Given the description of an element on the screen output the (x, y) to click on. 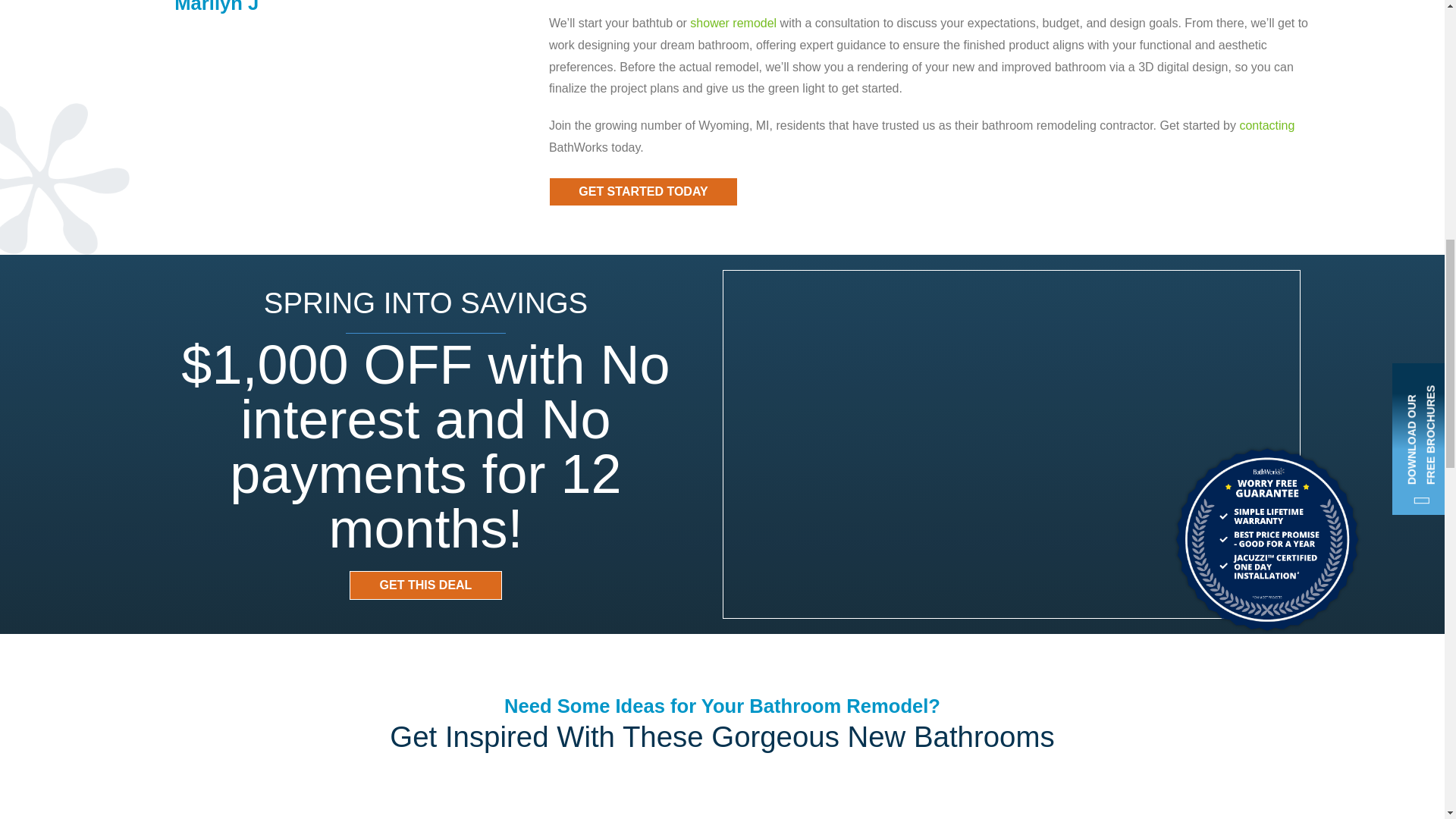
shower remodel (733, 22)
GET STARTED TODAY (643, 191)
contacting (1266, 124)
GET THIS DEAL (425, 584)
